Given the description of an element on the screen output the (x, y) to click on. 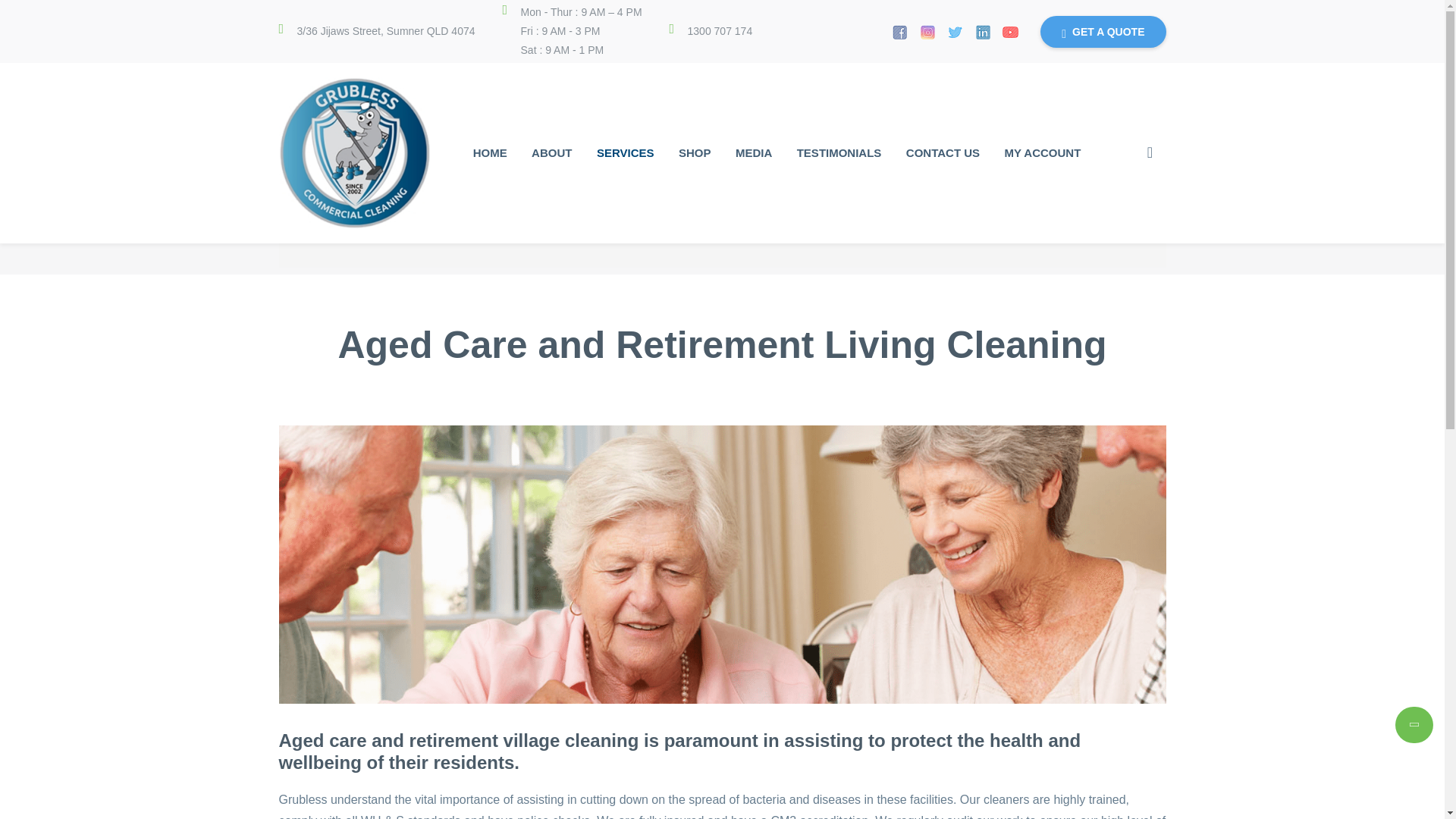
GET A QUOTE (1103, 30)
SERVICES (625, 153)
MY ACCOUNT (1042, 153)
HOME (490, 153)
MEDIA (753, 153)
TESTIMONIALS (838, 153)
SHOP (694, 153)
ABOUT (551, 153)
CONTACT US (942, 153)
